Given the description of an element on the screen output the (x, y) to click on. 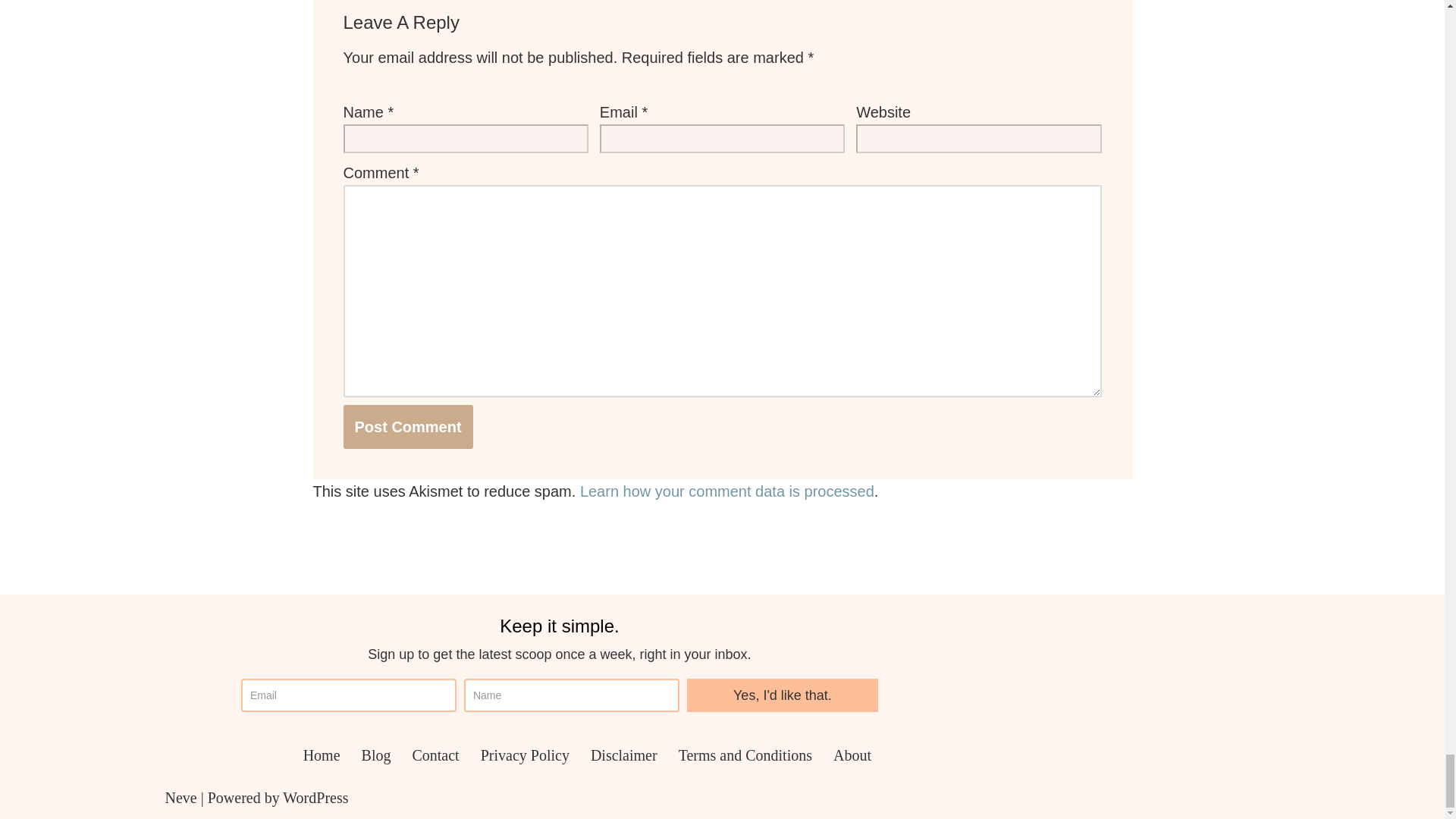
Post Comment (406, 426)
